Given the description of an element on the screen output the (x, y) to click on. 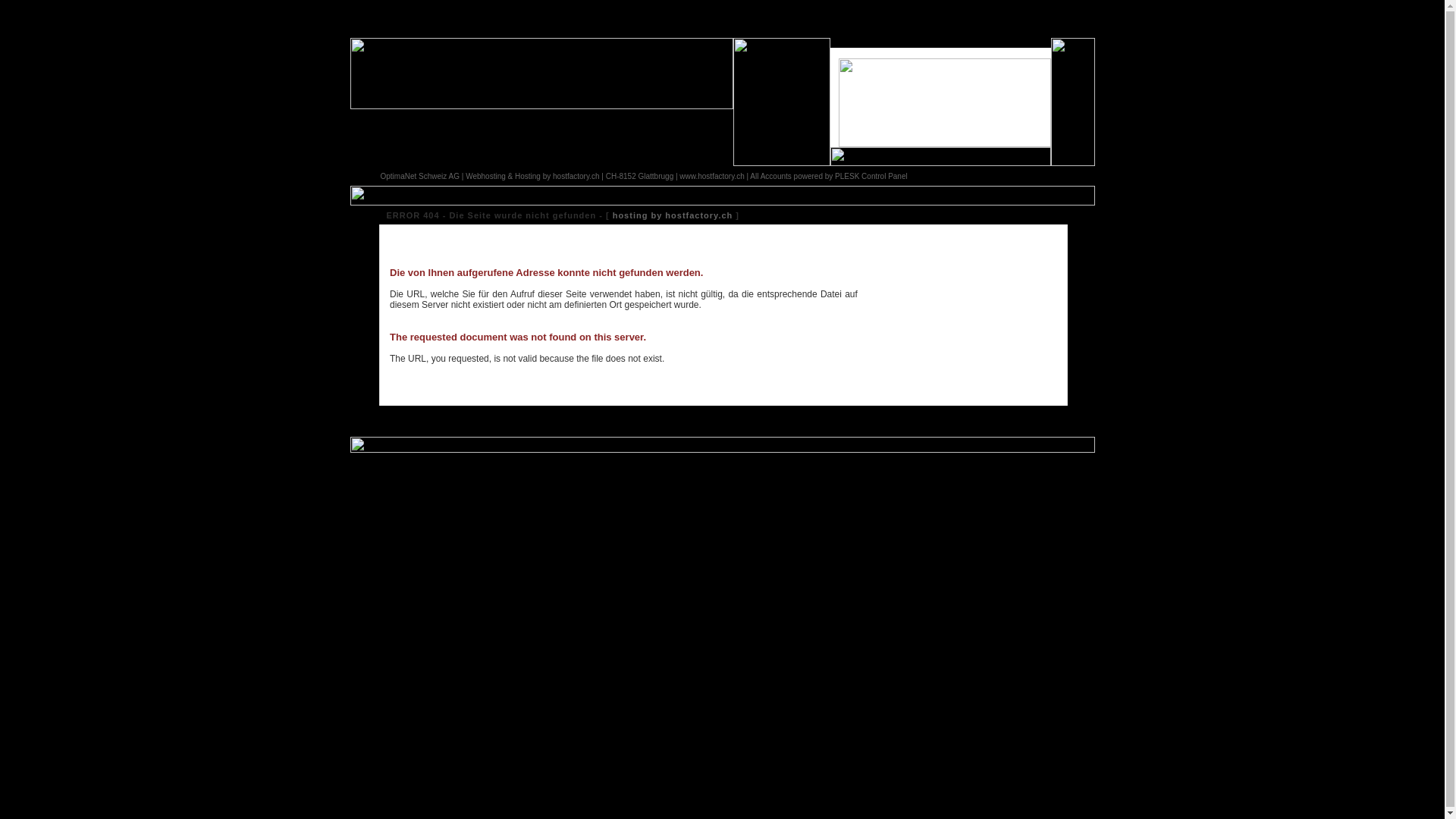
Hosting Element type: text (527, 175)
Webhosting Element type: text (485, 175)
hosting by hostfactory.ch Element type: text (672, 214)
